Given the description of an element on the screen output the (x, y) to click on. 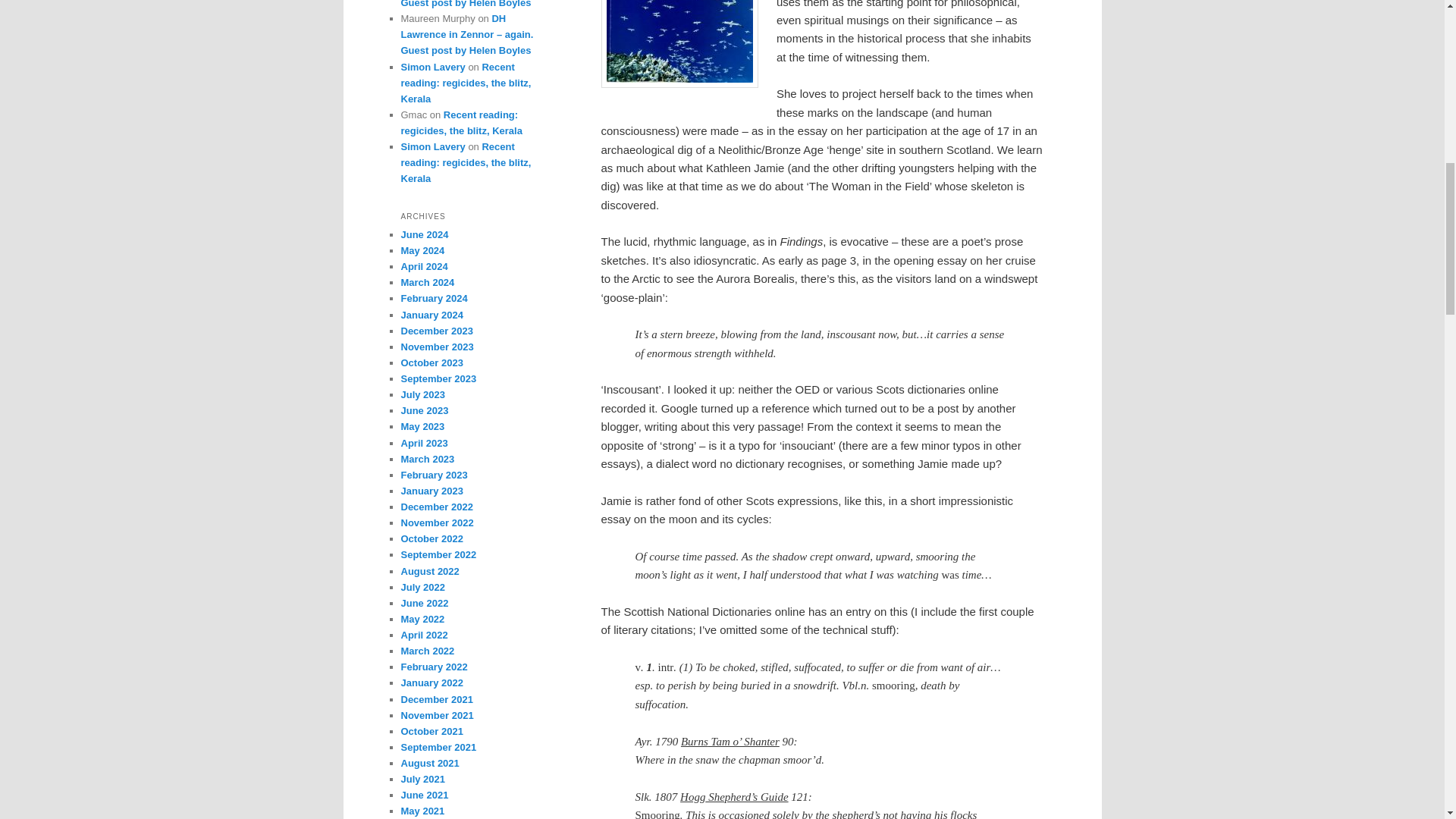
Recent reading: regicides, the blitz, Kerala (465, 82)
Recent reading: regicides, the blitz, Kerala (460, 122)
Simon Lavery (432, 66)
